Given the description of an element on the screen output the (x, y) to click on. 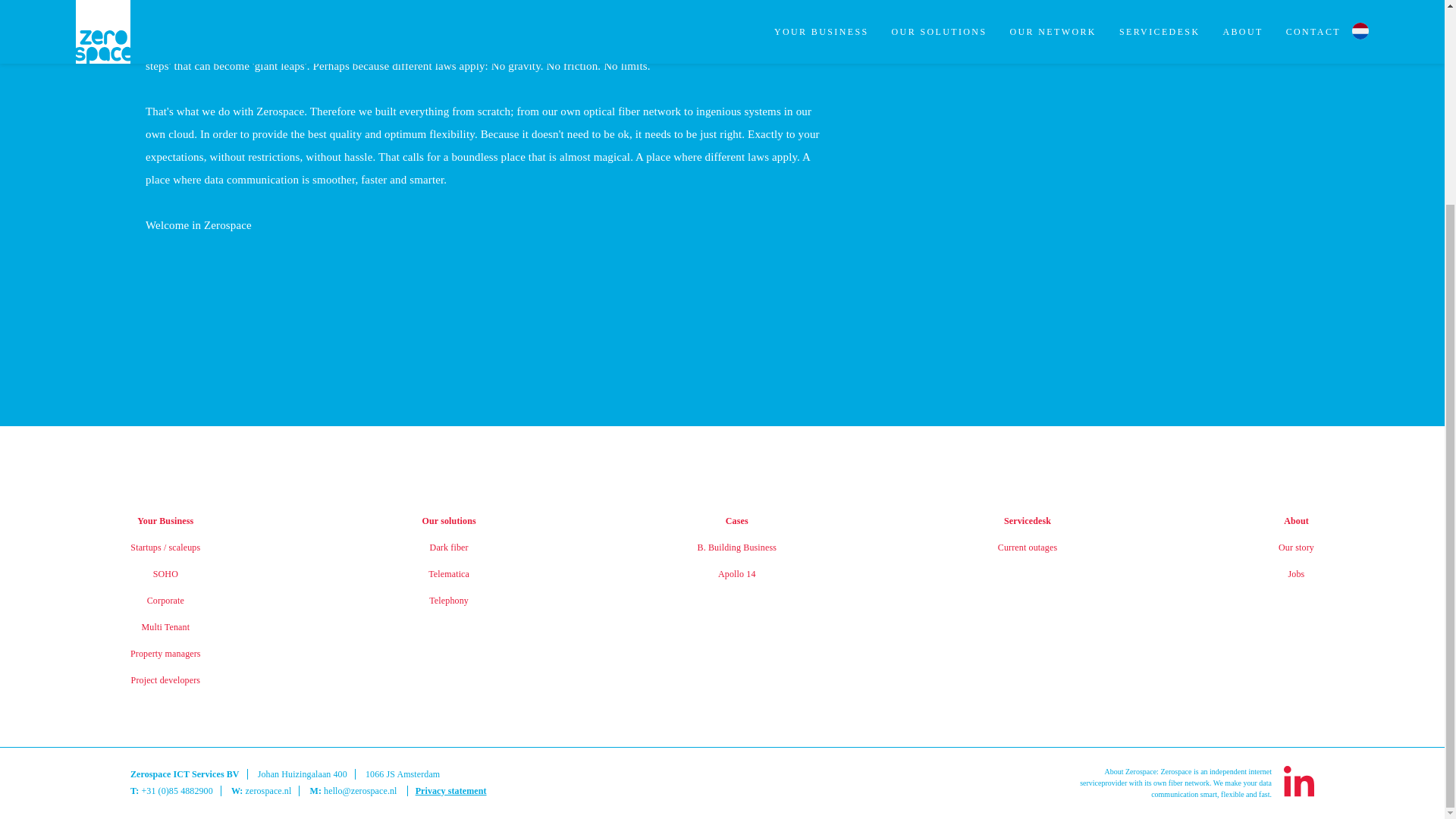
Multi Tenant (165, 626)
SOHO (164, 573)
Telematica (448, 573)
Your Business (164, 520)
Telephony (448, 600)
Cases (736, 520)
Our solutions (449, 520)
Corporate (165, 600)
Dark fiber (448, 547)
Apollo 14 (736, 573)
